Given the description of an element on the screen output the (x, y) to click on. 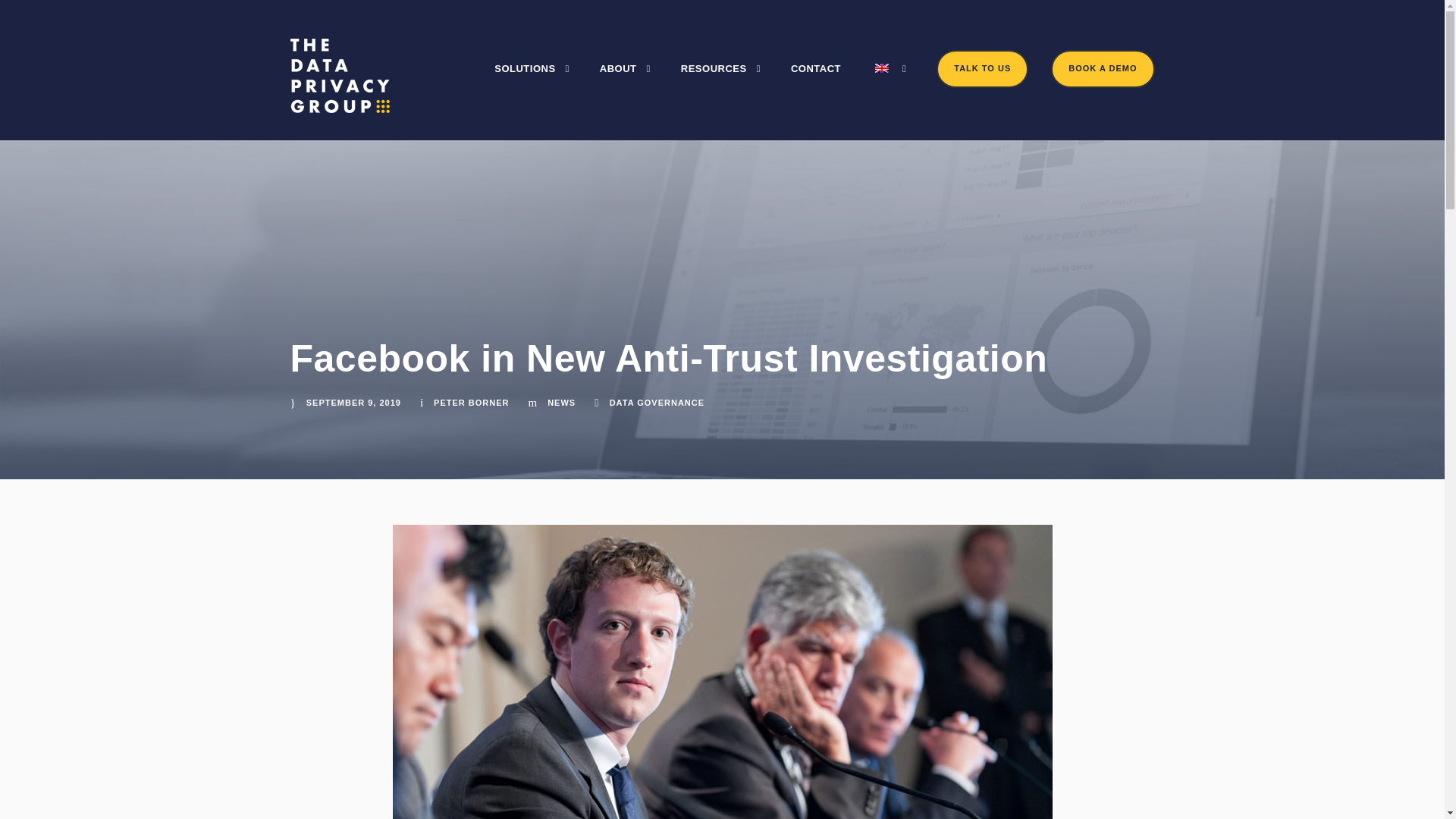
SOLUTIONS (532, 82)
CONTACT (815, 82)
small-logo-tdpg (340, 75)
ABOUT (624, 82)
Posts by Peter Borner (470, 402)
RESOURCES (720, 82)
